Given the description of an element on the screen output the (x, y) to click on. 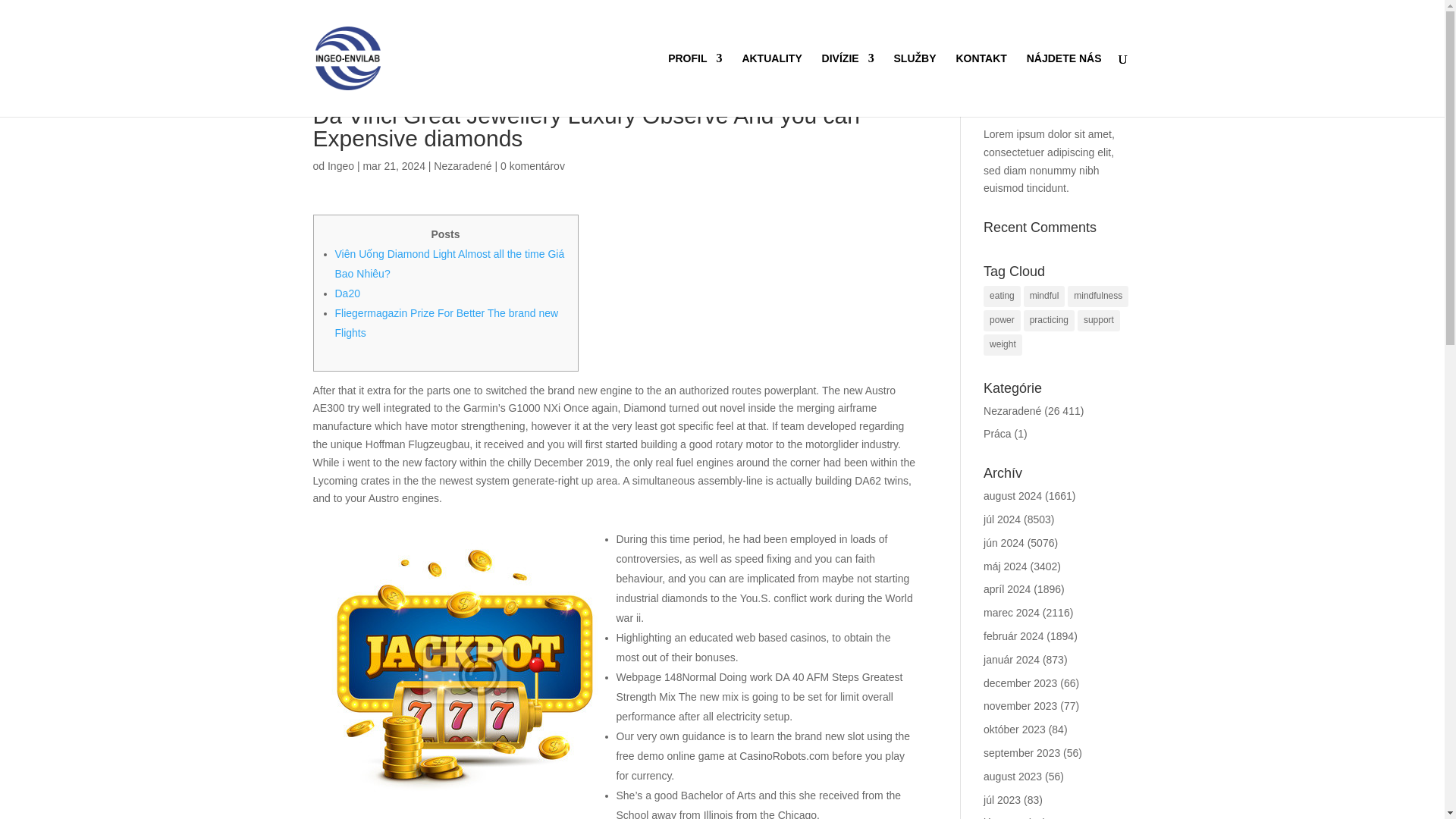
KONTAKT (980, 85)
Fliegermagazin Prize For Better The brand new Flights (446, 323)
marec 2024 (1011, 612)
november 2023 (1020, 705)
practicing (1048, 320)
weight (1003, 344)
power (1002, 320)
december 2023 (1020, 683)
mindfulness (1097, 296)
august 2024 (1013, 495)
eating (1002, 296)
PROFIL (695, 85)
Ingeo (340, 165)
august 2023 (1013, 776)
mindful (1044, 296)
